Given the description of an element on the screen output the (x, y) to click on. 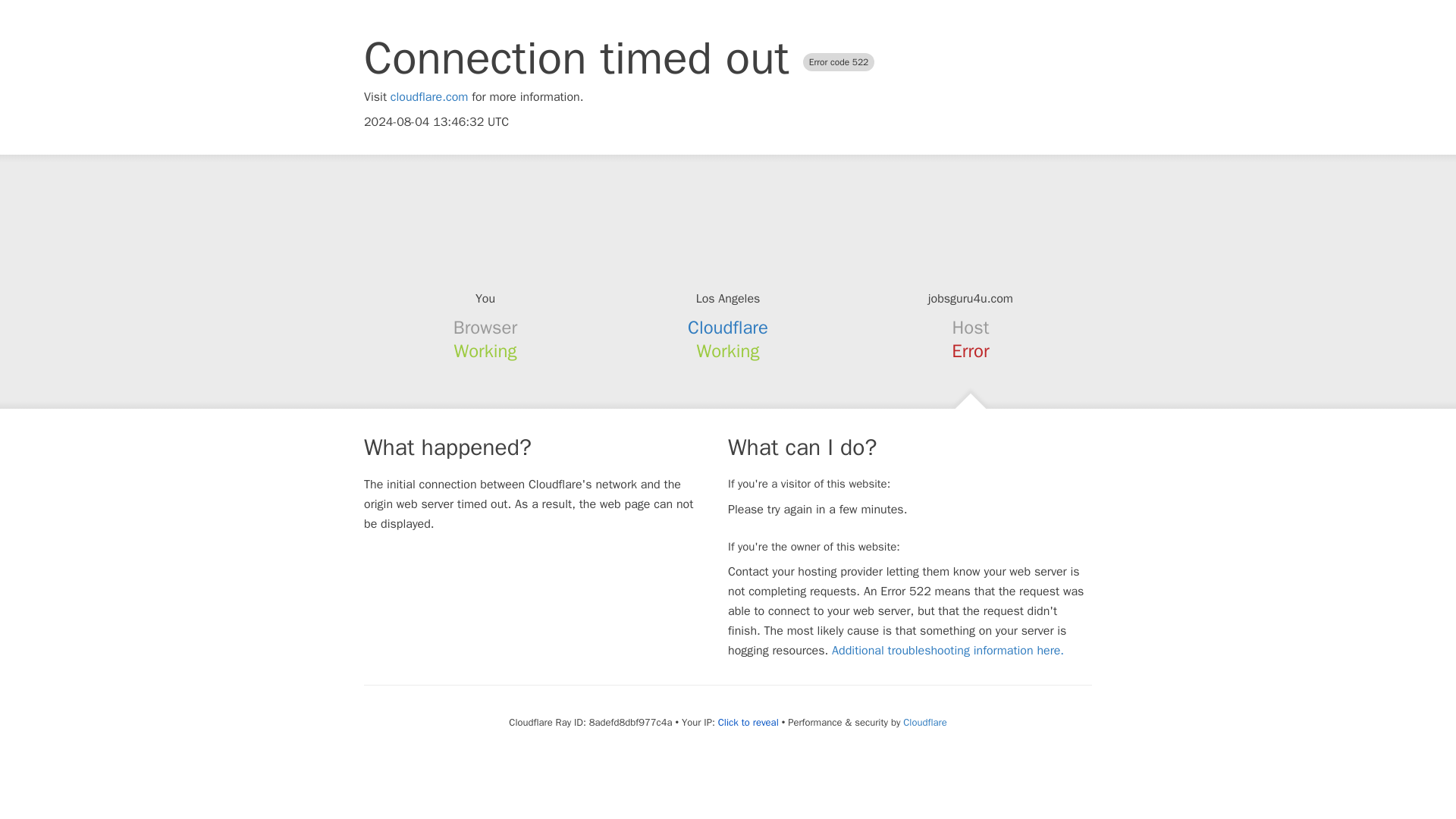
Cloudflare (727, 327)
Cloudflare (924, 721)
cloudflare.com (429, 96)
Additional troubleshooting information here. (947, 650)
Click to reveal (747, 722)
